Given the description of an element on the screen output the (x, y) to click on. 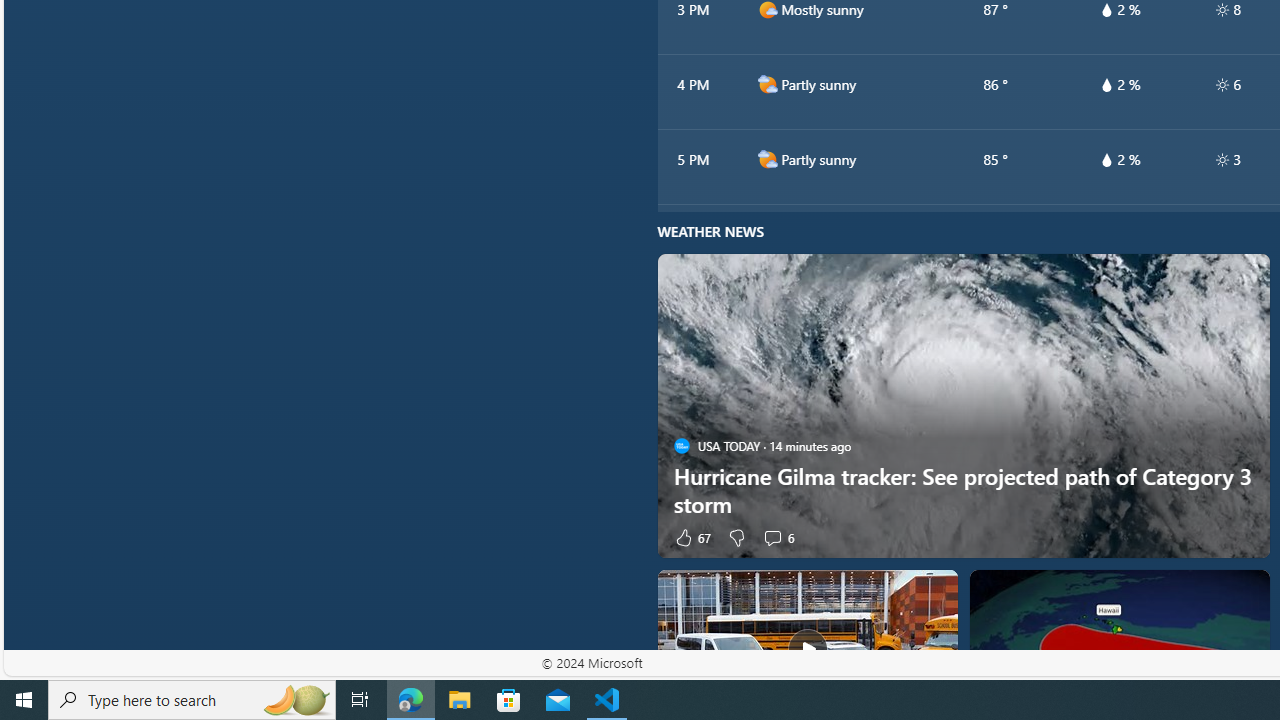
View comments 6 Comment (772, 537)
View comments 6 Comment (777, 537)
d2000 (767, 159)
hourlyTable/drop (1106, 159)
d1000 (767, 10)
hourlyTable/uv (1222, 159)
67 Like (692, 537)
